Given the description of an element on the screen output the (x, y) to click on. 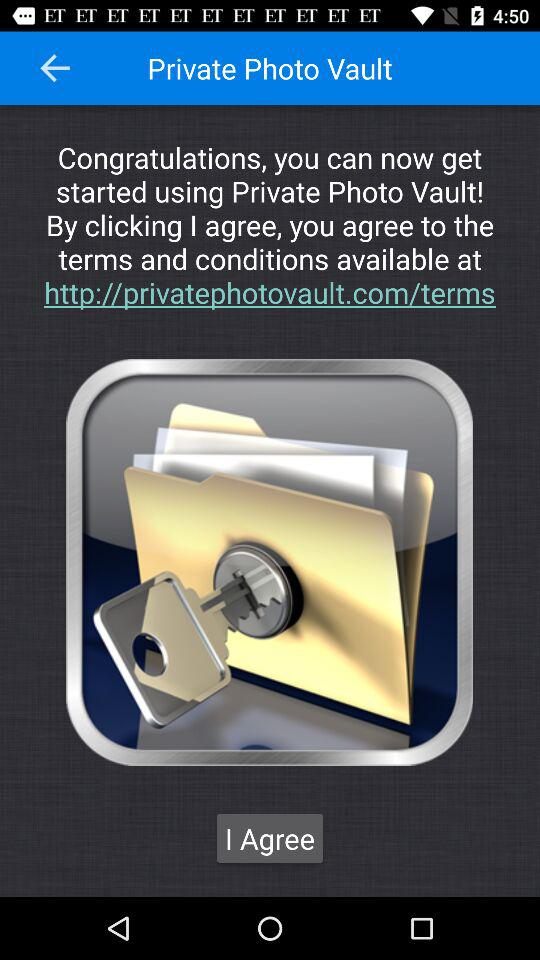
click icon at the top left corner (55, 68)
